Given the description of an element on the screen output the (x, y) to click on. 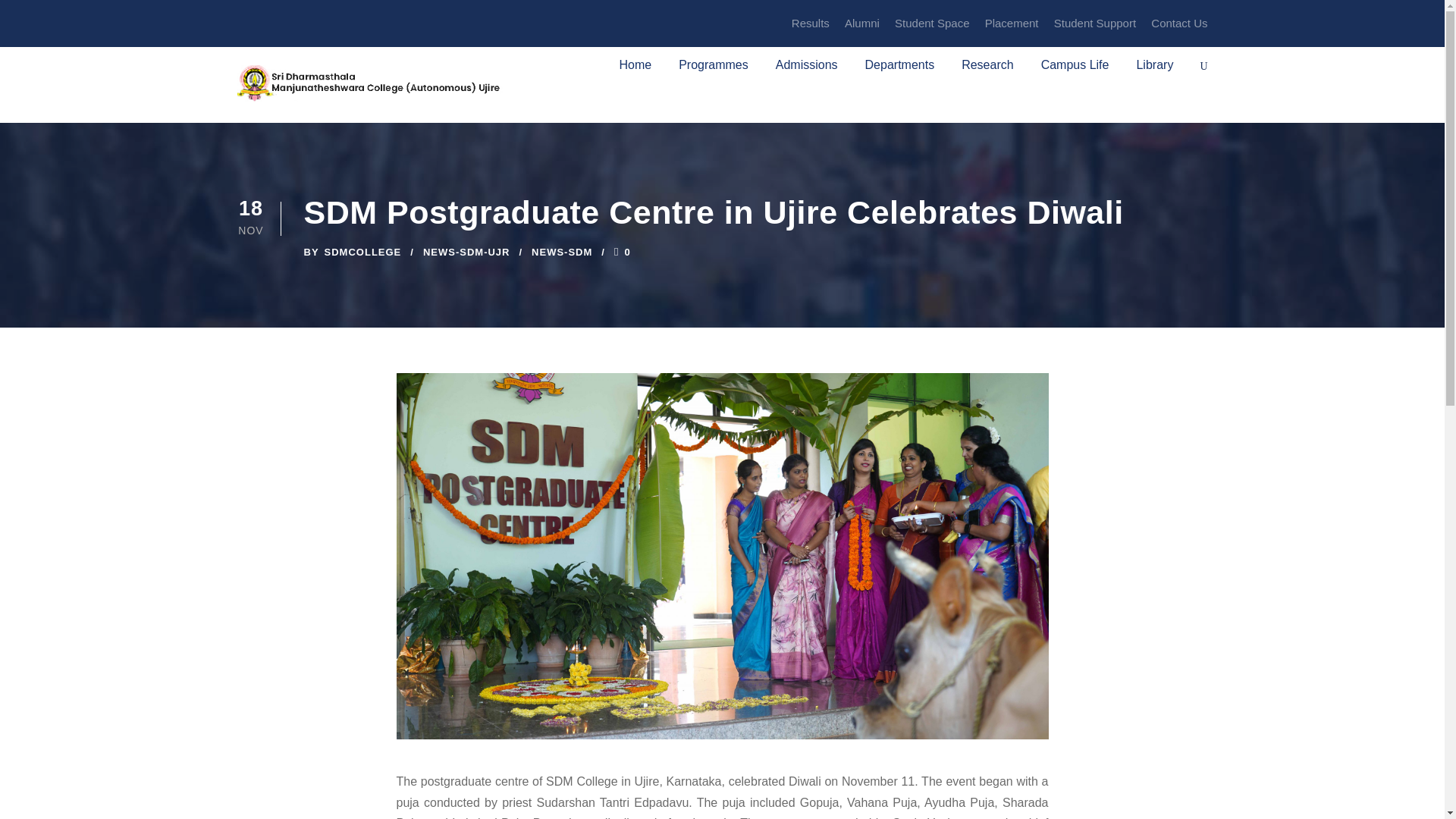
Posts by sdmcollege (362, 251)
